Given the description of an element on the screen output the (x, y) to click on. 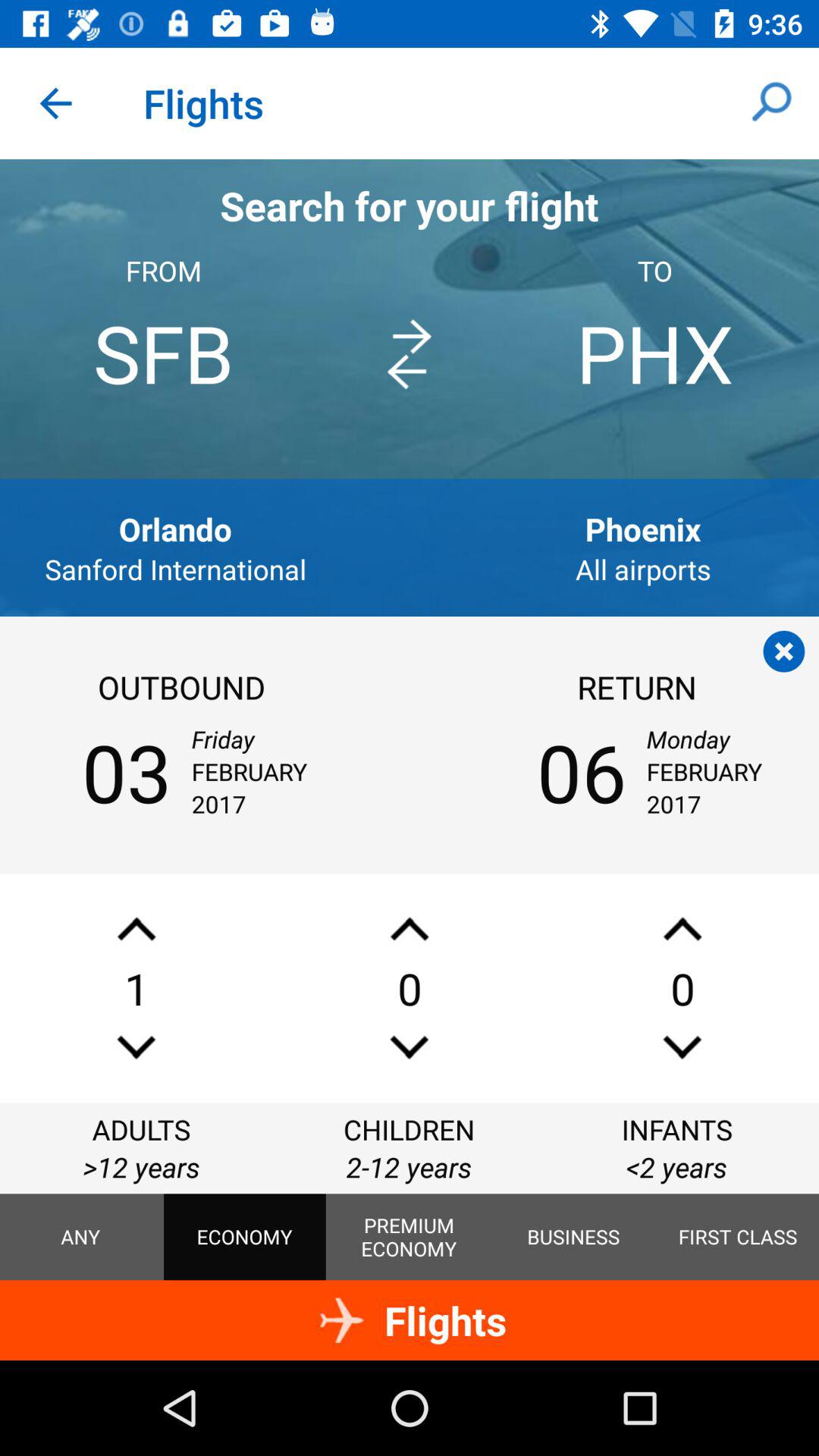
decrements number infants category (682, 1047)
